Given the description of an element on the screen output the (x, y) to click on. 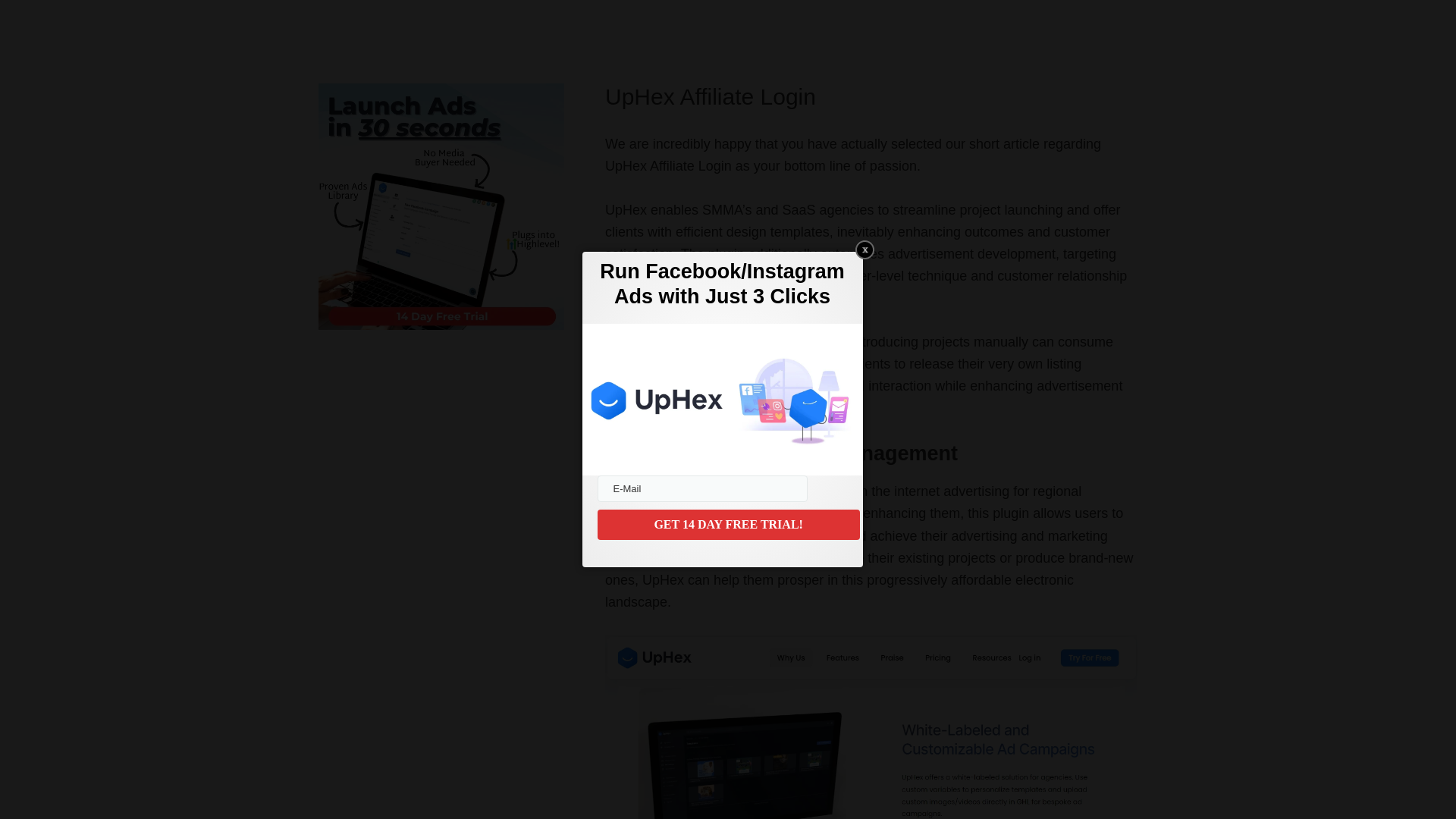
GET 14 DAY FREE TRIAL! (728, 524)
GET 14 DAY FREE TRIAL! (728, 524)
